Given the description of an element on the screen output the (x, y) to click on. 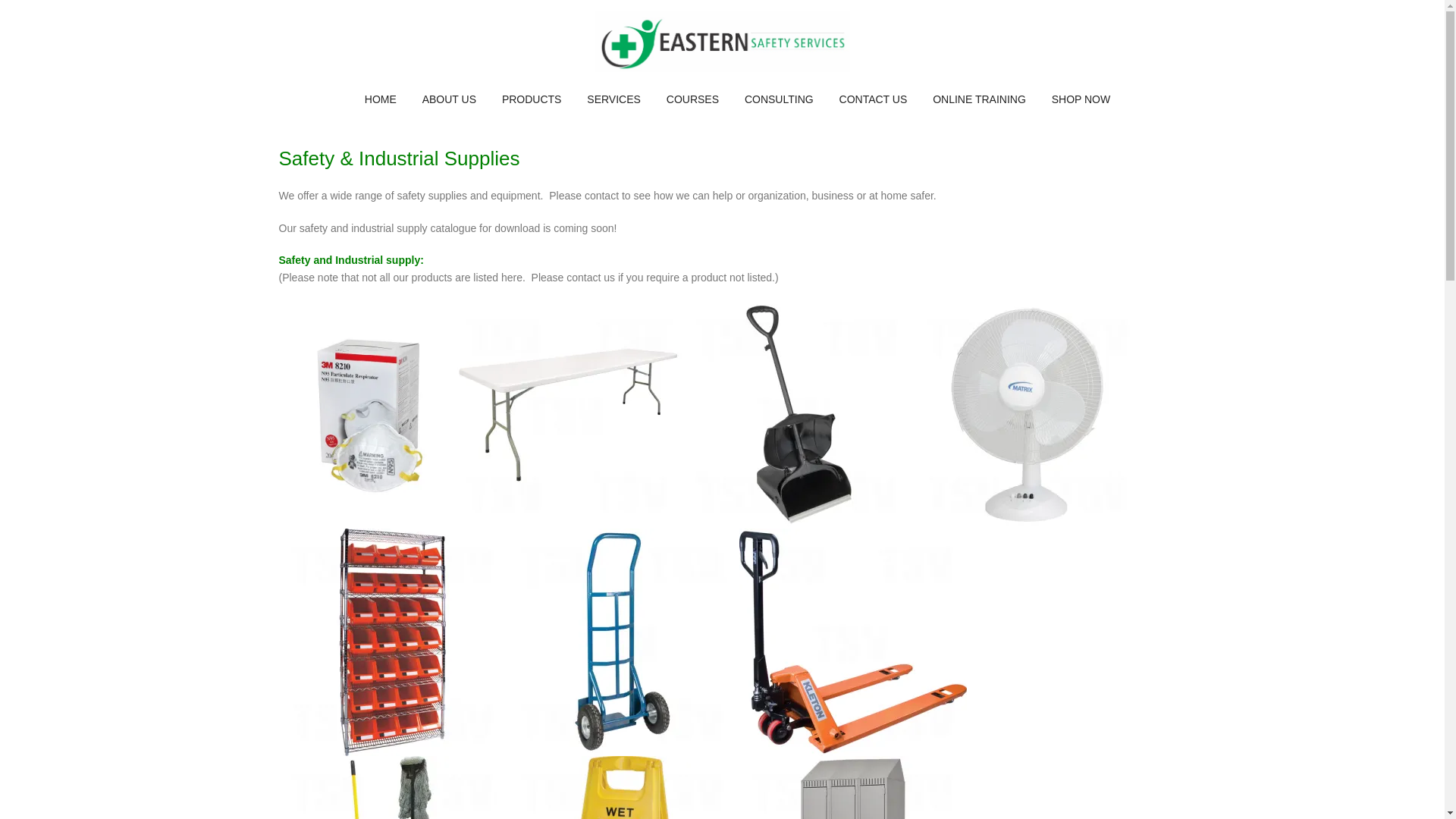
ABOUT US (448, 99)
SERVICES (613, 99)
HOME (380, 99)
Eastern Safety Services (722, 40)
PRODUCTS (531, 99)
